Given the description of an element on the screen output the (x, y) to click on. 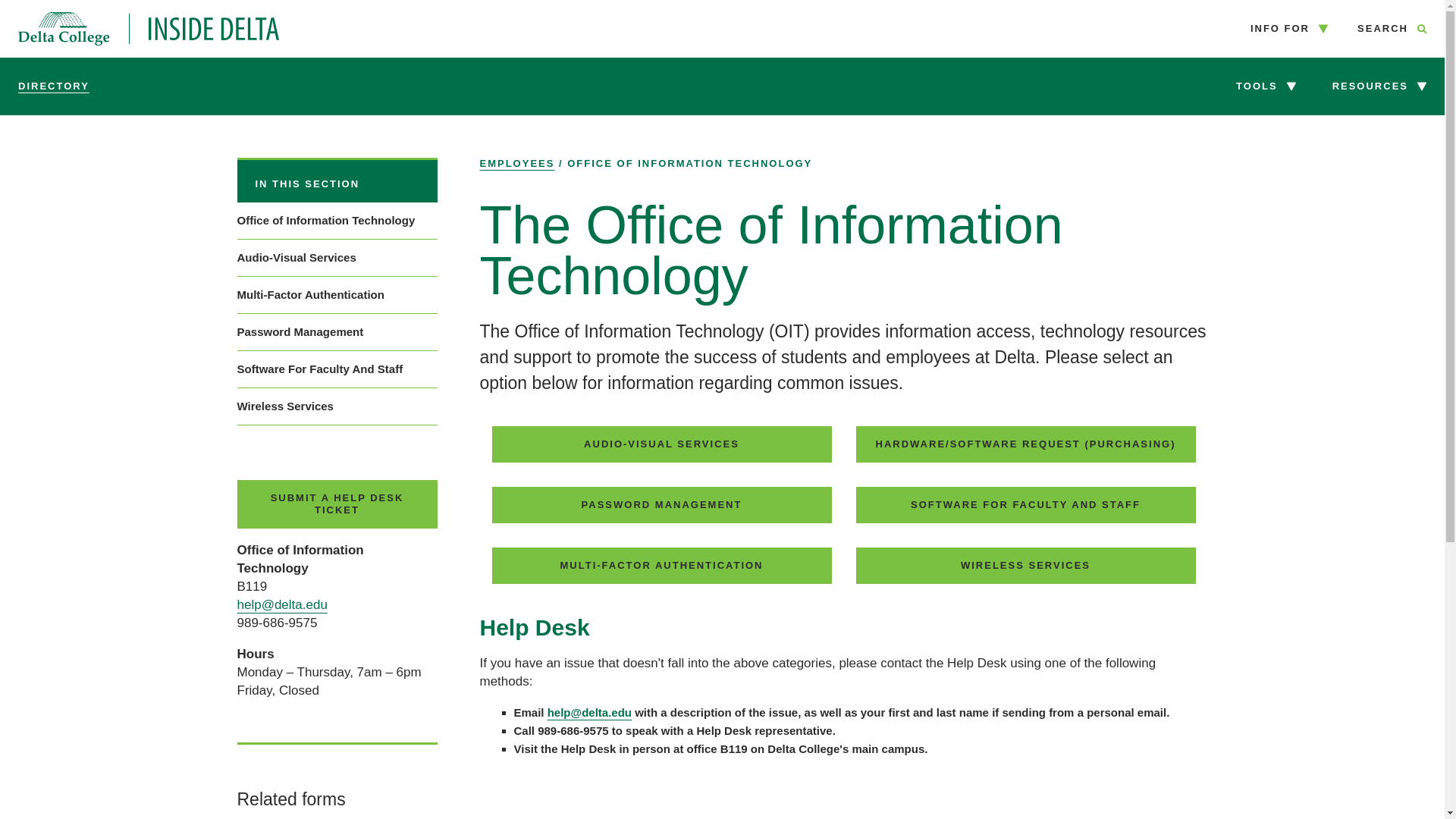
INFO FOR (1288, 28)
Office of Information Technology (335, 220)
TOOLS (148, 28)
IN THIS SECTION (1265, 86)
DIRECTORY (335, 180)
